Given the description of an element on the screen output the (x, y) to click on. 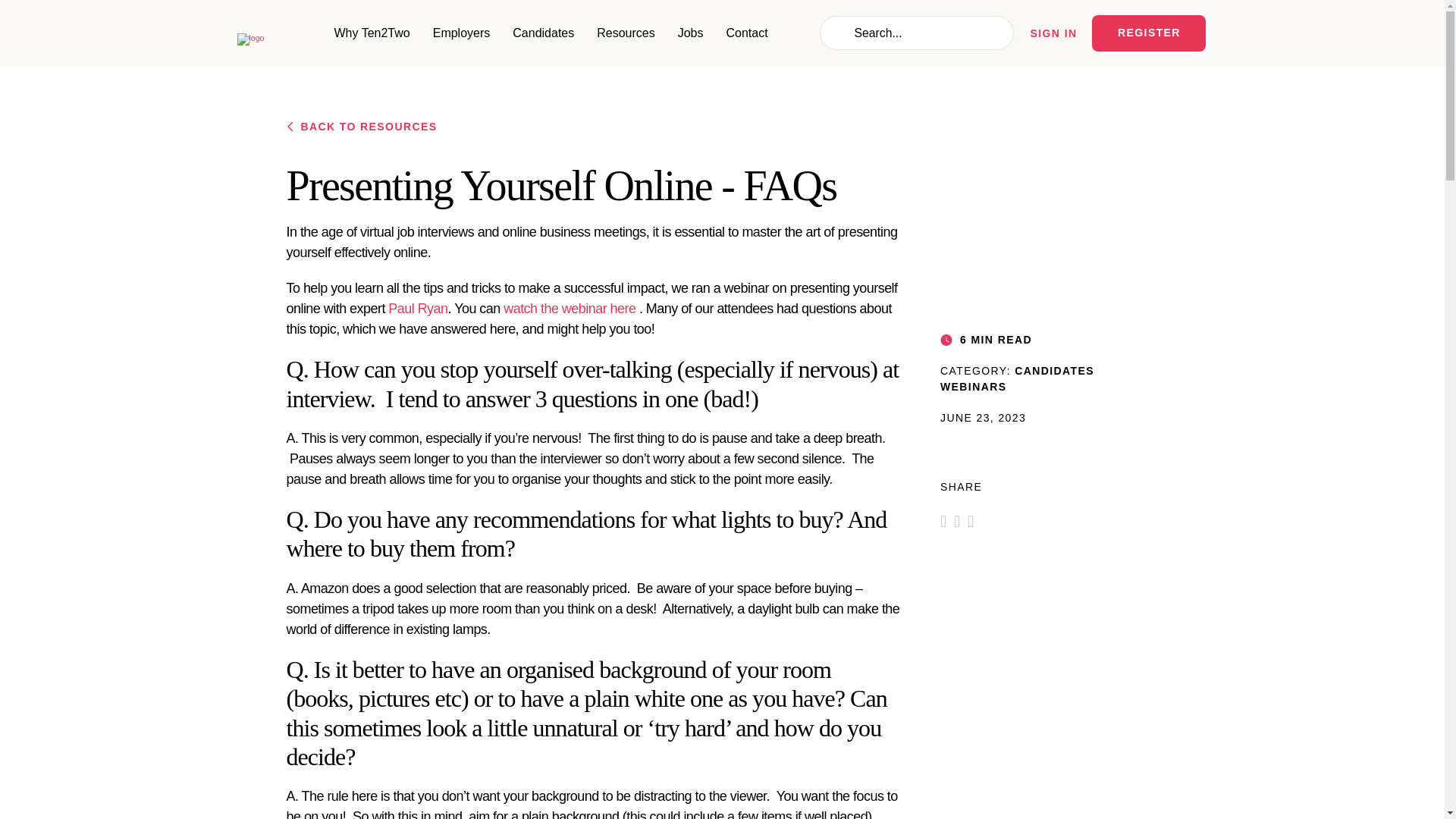
BACK TO RESOURCES (594, 127)
Jobs (690, 33)
Resources (624, 33)
WEBINARS (973, 386)
CANDIDATES (1054, 370)
Employers (461, 33)
Paul Ryan (417, 308)
watch the webinar here (568, 308)
Candidates (542, 33)
Why Ten2Two (371, 33)
